Given the description of an element on the screen output the (x, y) to click on. 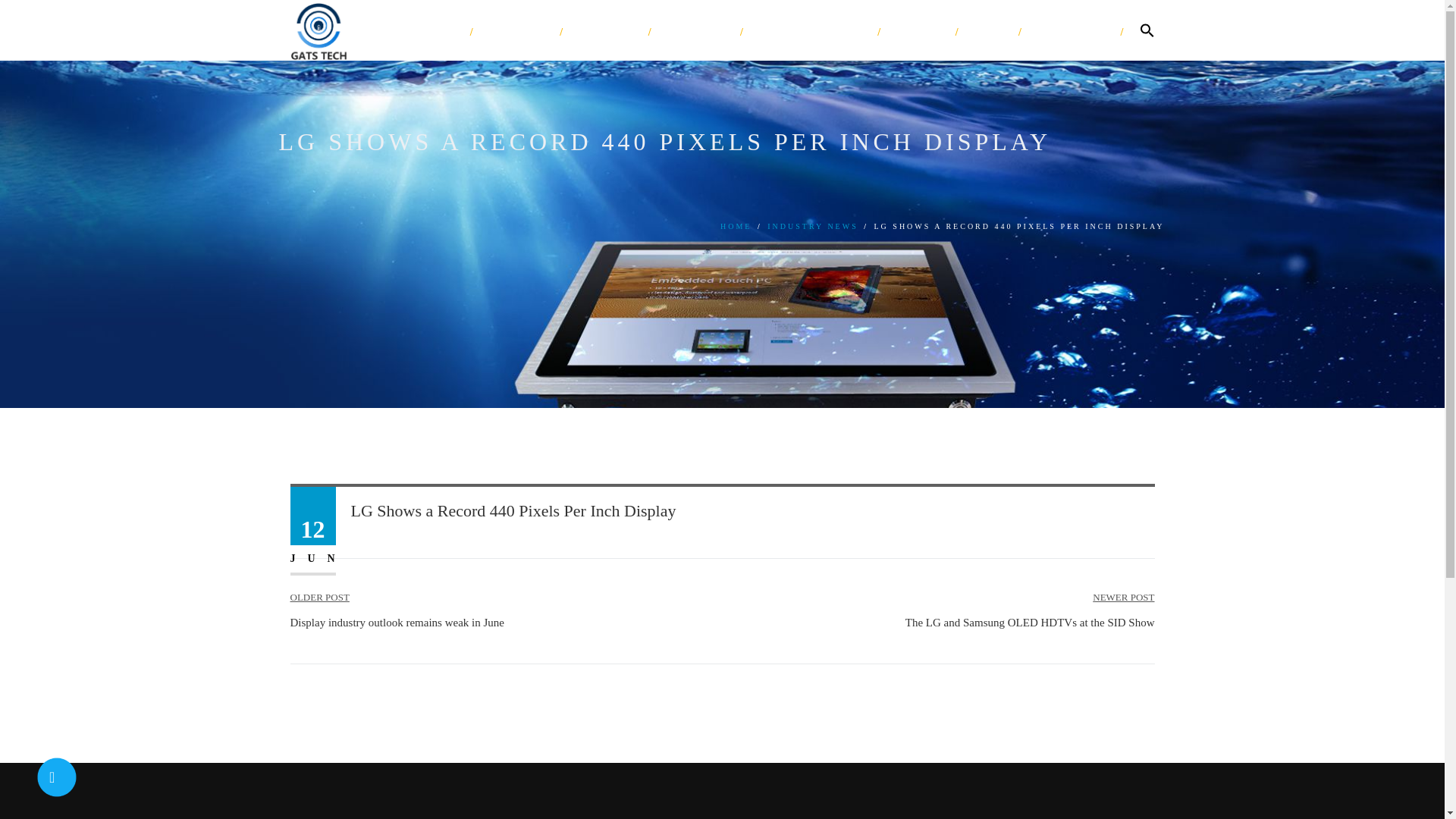
About Us (518, 30)
Products (607, 30)
Contact Us (1073, 30)
Home (437, 30)
Service (919, 30)
Solutions (698, 30)
News (990, 30)
Optical Bonding (812, 30)
